Given the description of an element on the screen output the (x, y) to click on. 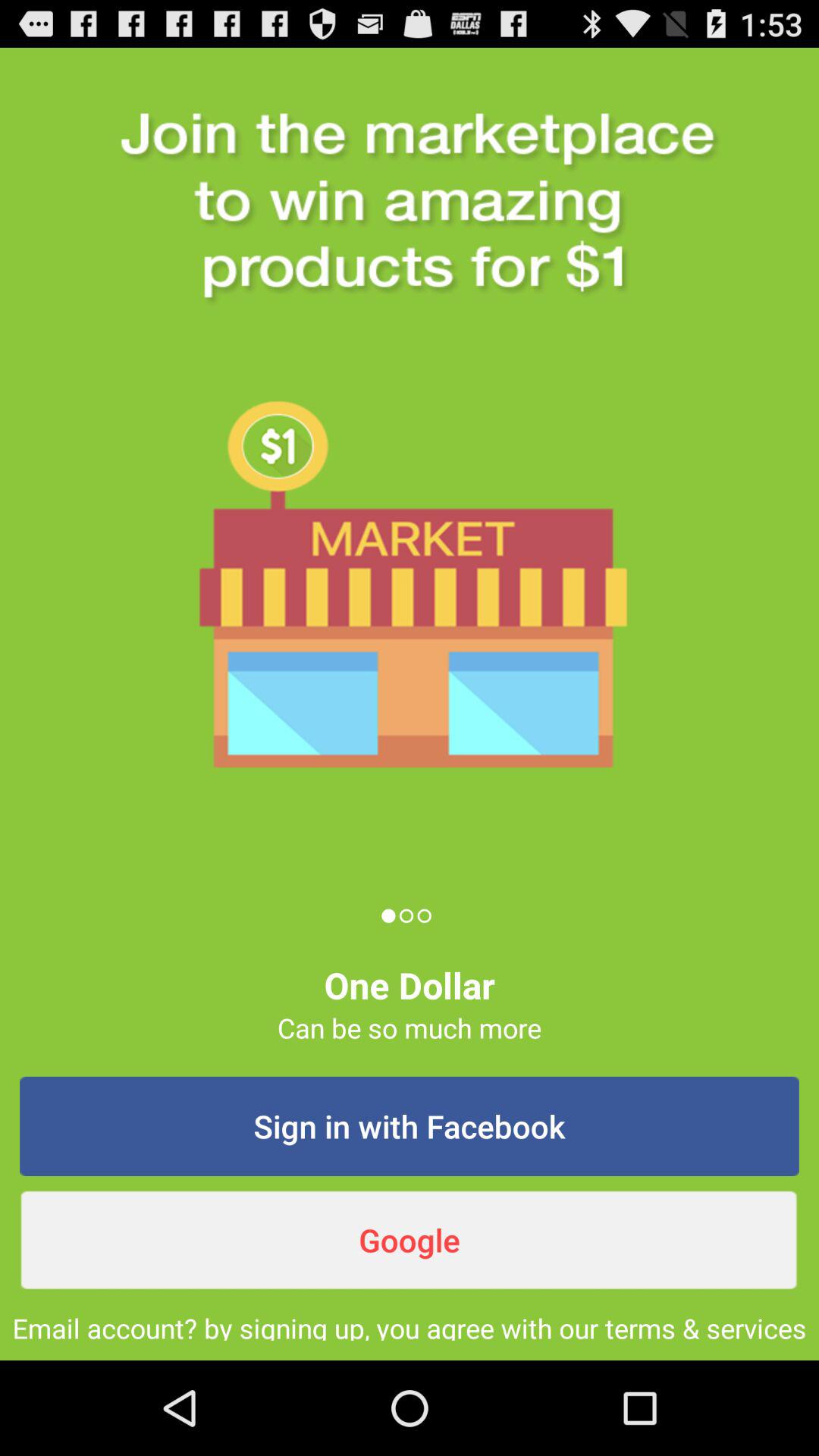
turn off the button below google button (409, 1324)
